Given the description of an element on the screen output the (x, y) to click on. 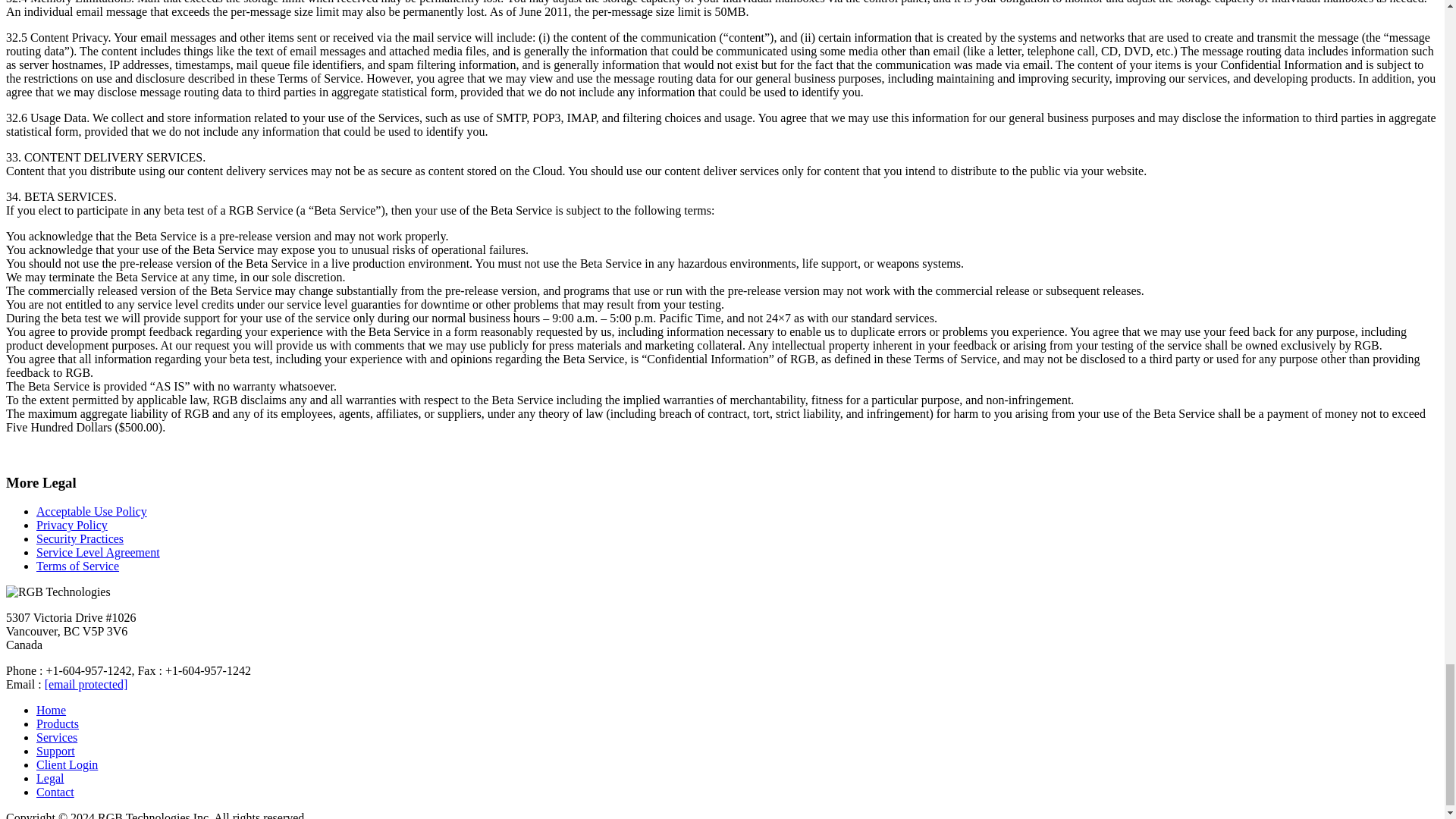
Support (55, 750)
Terms of Service (77, 565)
Home (50, 709)
Legal (50, 778)
Security Practices (79, 538)
Service Level Agreement (98, 552)
Contact (55, 791)
Services (56, 737)
Products (57, 723)
Privacy Policy (71, 524)
